Given the description of an element on the screen output the (x, y) to click on. 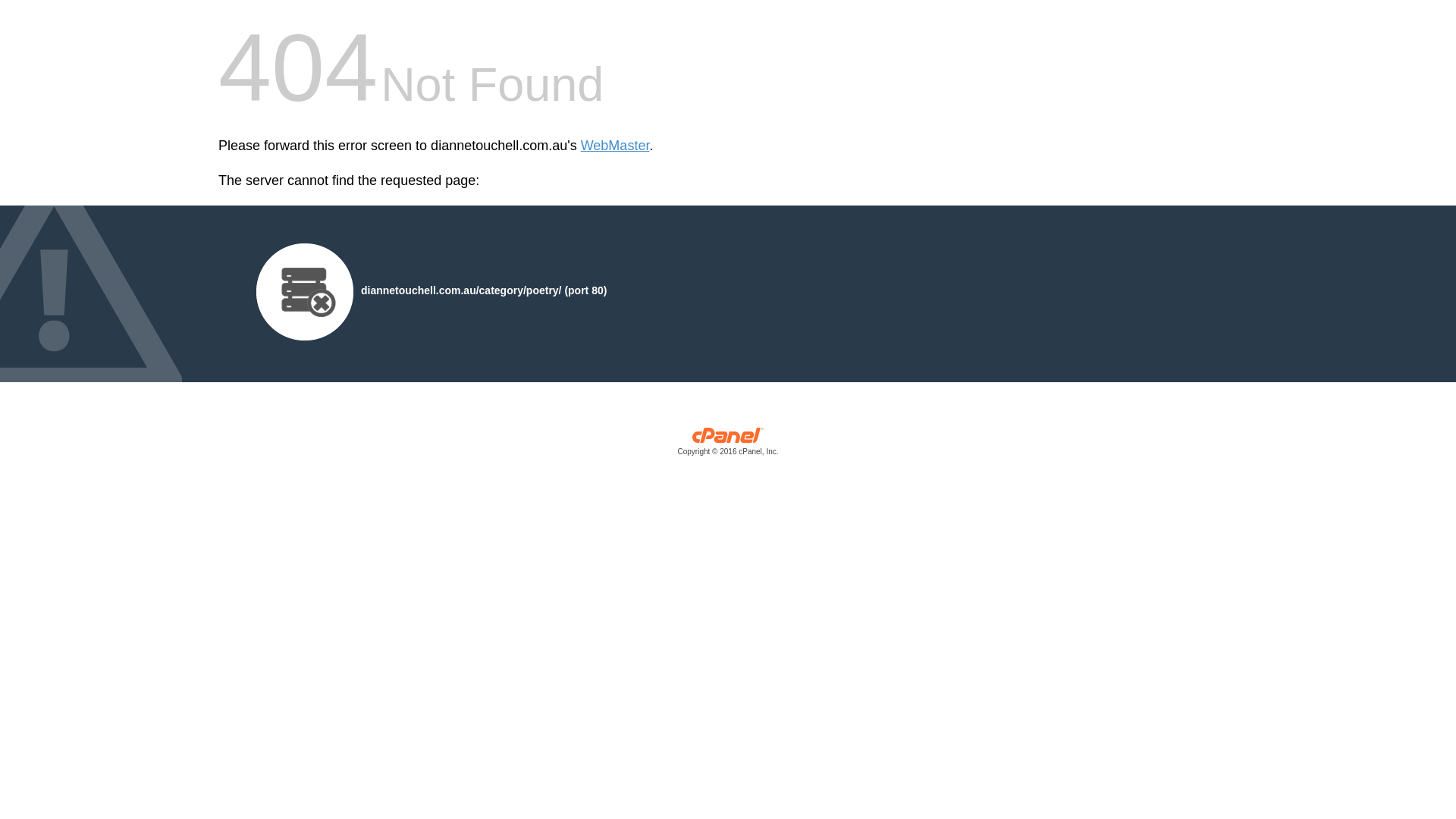
WebMaster Element type: text (614, 145)
